Given the description of an element on the screen output the (x, y) to click on. 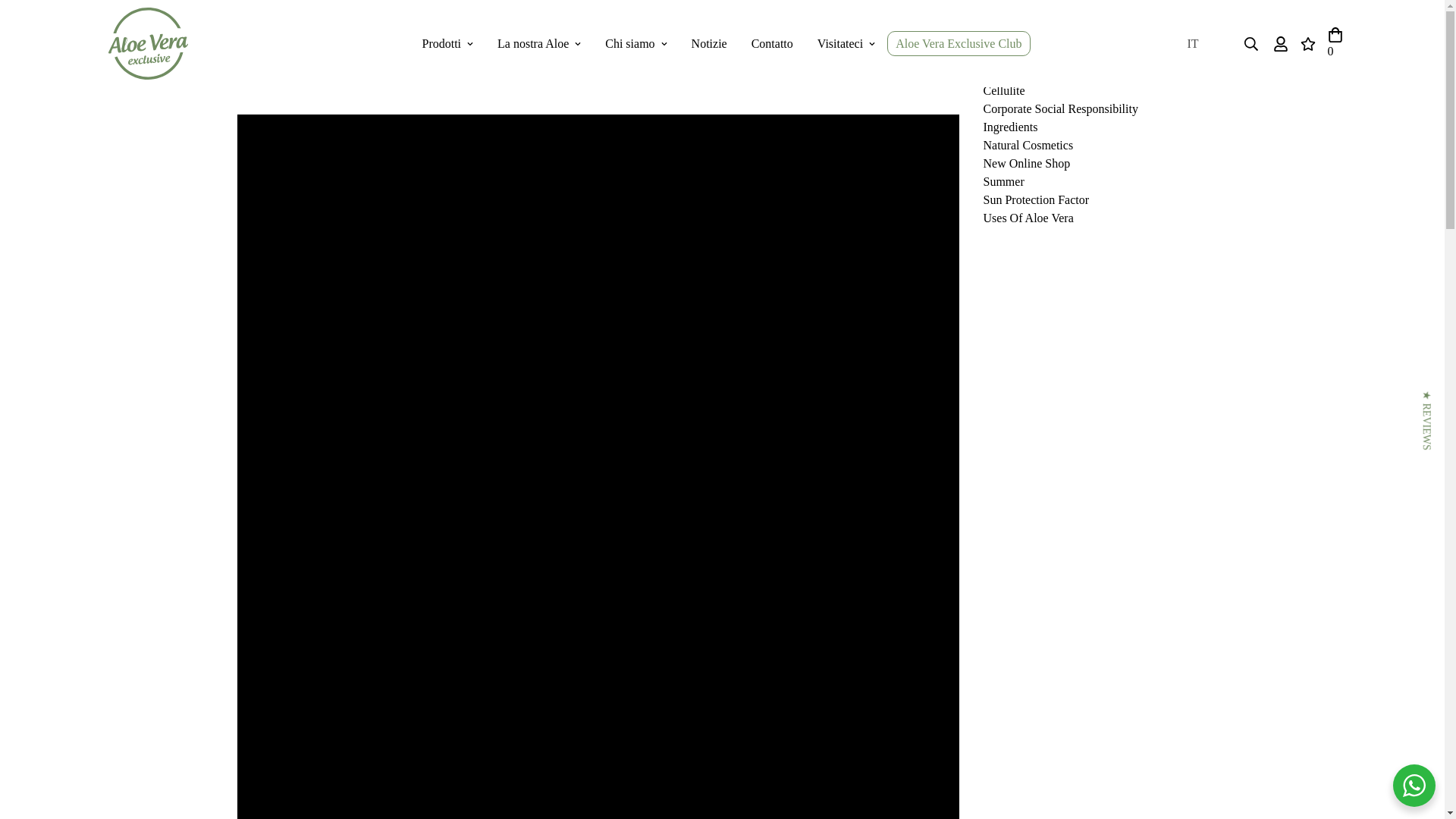
Show articles tagged new online shop (1026, 163)
Visitateci (845, 43)
Notizie (709, 43)
Show articles tagged ingredients (1009, 126)
Aloe Vera Exclusive (147, 43)
Show articles tagged Aloe Vera (1006, 35)
Show articles tagged benefits (1002, 72)
Show articles tagged summer (1002, 181)
Show articles tagged cellulite (1003, 90)
Show articles tagged Corporate Social Responsibility (1059, 108)
Aloe Vera Exclusive Club (957, 43)
Contatto (772, 43)
Show articles tagged uses of aloe vera (1027, 217)
